Given the description of an element on the screen output the (x, y) to click on. 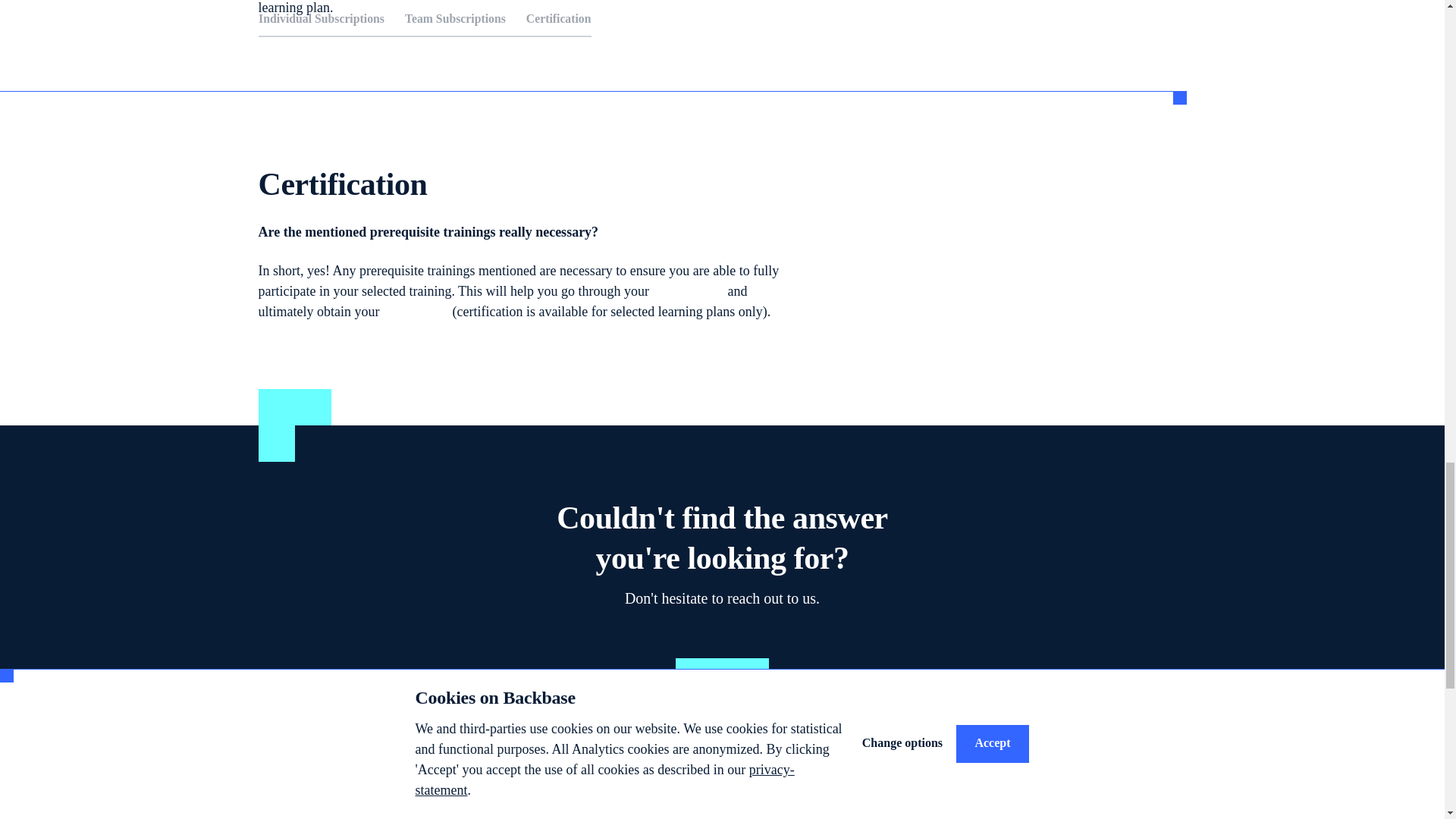
Contact us (721, 677)
learning plan (687, 290)
certification (415, 311)
